Given the description of an element on the screen output the (x, y) to click on. 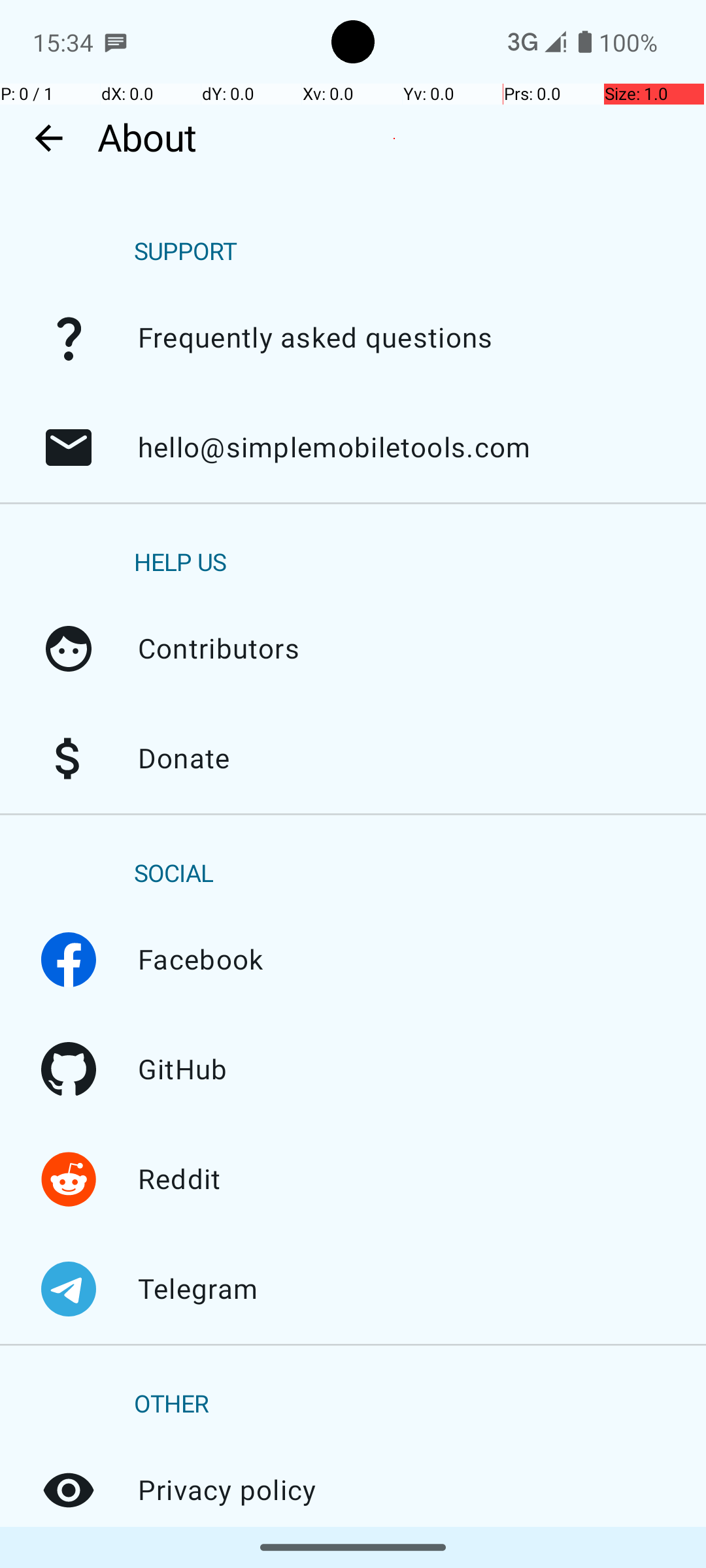
SUPPORT Element type: android.widget.TextView (185, 251)
HELP US Element type: android.widget.TextView (180, 562)
SOCIAL Element type: android.widget.TextView (173, 873)
OTHER Element type: android.widget.TextView (171, 1404)
Frequently asked questions Element type: android.view.View (68, 337)
hello@simplemobiletools.com Element type: android.view.View (68, 447)
Donate Element type: android.view.View (68, 758)
Facebook Element type: android.view.View (68, 959)
GitHub Element type: android.view.View (68, 1069)
Reddit Element type: android.view.View (68, 1178)
Telegram Element type: android.view.View (68, 1288)
Privacy policy Element type: android.view.View (68, 1489)
